Given the description of an element on the screen output the (x, y) to click on. 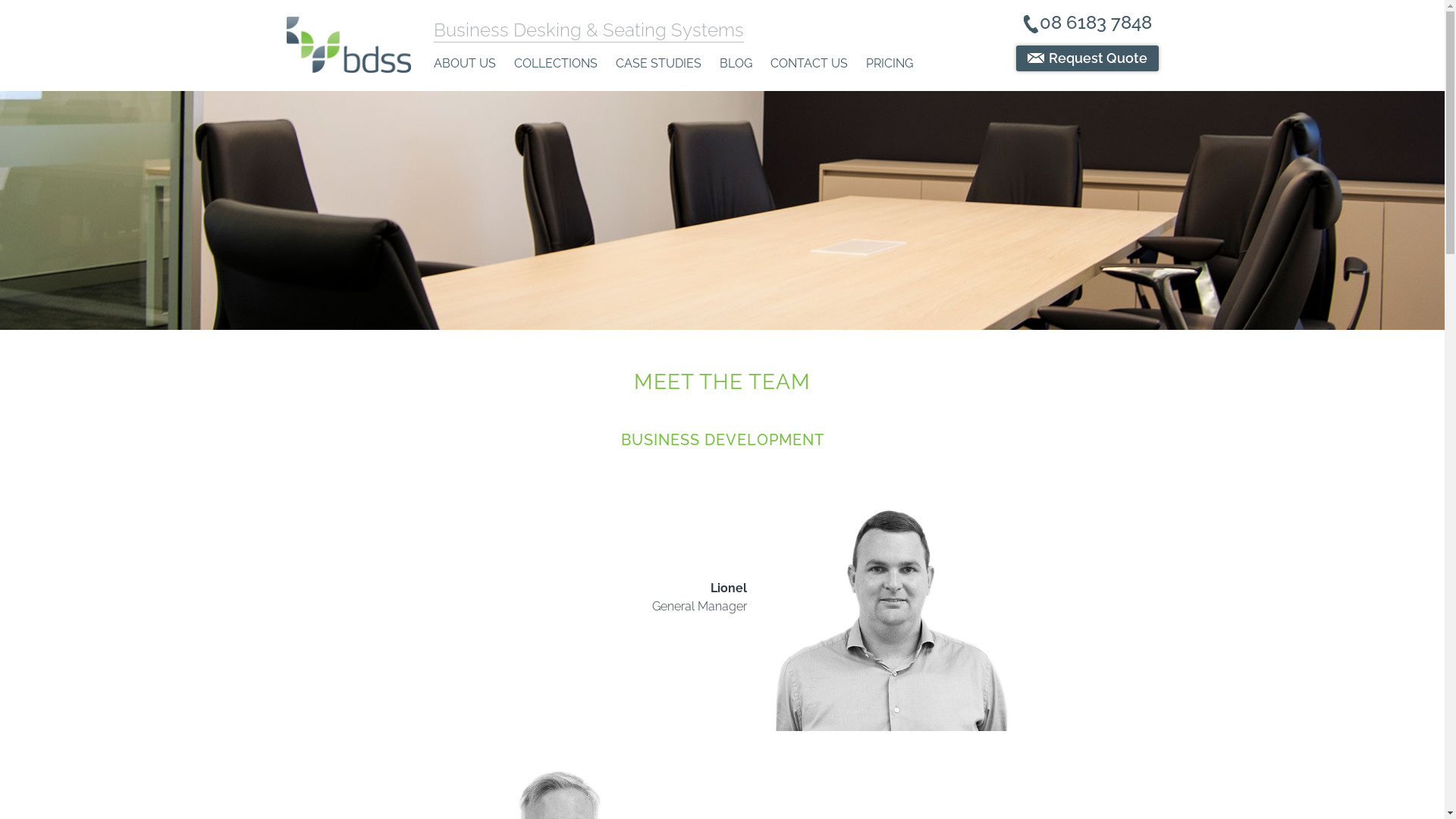
Request Quote Element type: text (1087, 58)
BLOG Element type: text (734, 63)
CASE STUDIES Element type: text (658, 63)
PRICING Element type: text (889, 63)
COLLECTIONS Element type: text (555, 63)
ABOUT US Element type: text (464, 63)
08 6183 7848 Element type: text (1087, 23)
CONTACT US Element type: text (808, 63)
